Given the description of an element on the screen output the (x, y) to click on. 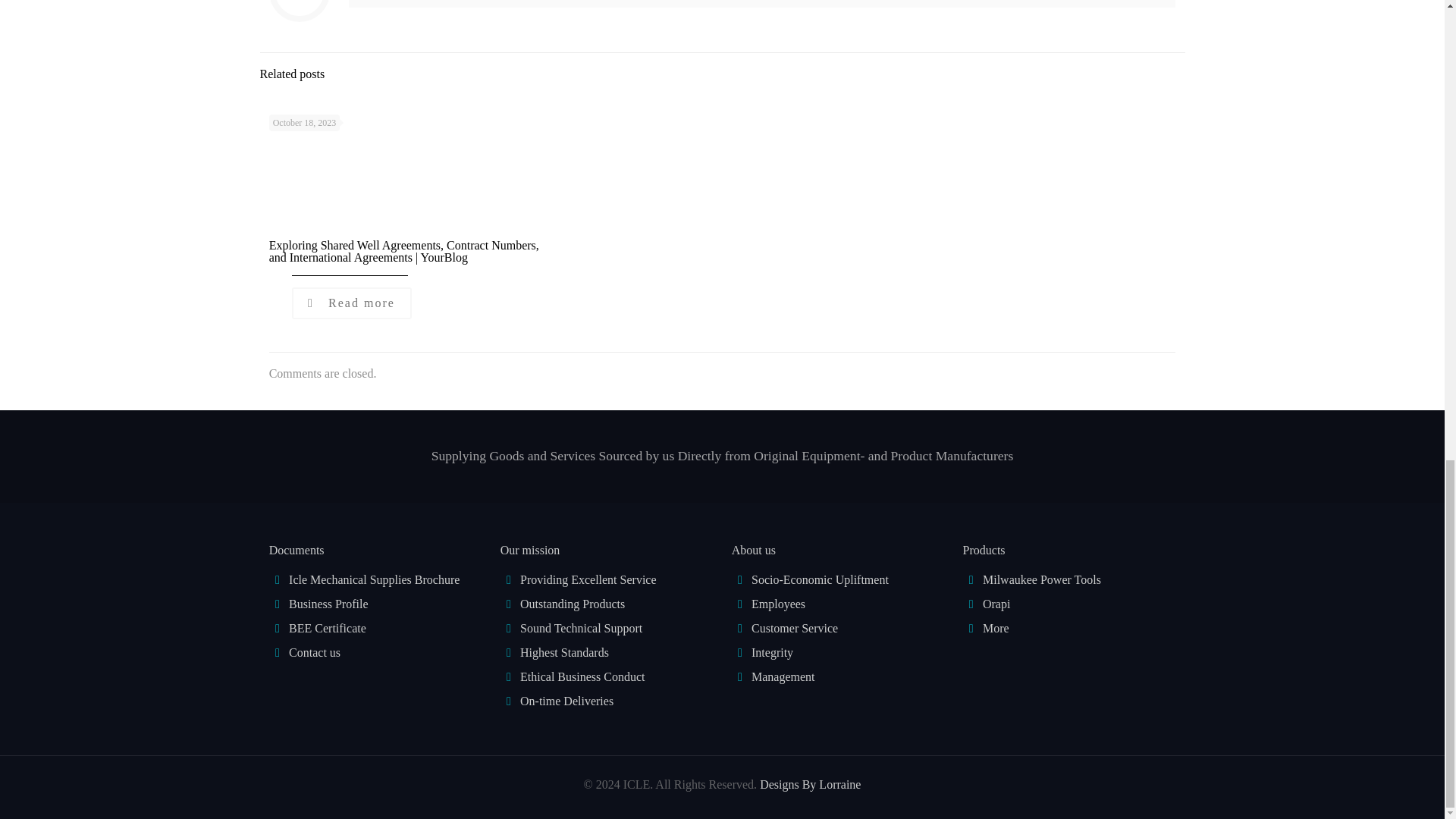
On-time Deliveries (565, 700)
Socio-Economic Upliftment (819, 579)
Icle Mechanical Supplies Brochure (374, 579)
Providing Excellent Service (587, 579)
Ethical Business Conduct (582, 676)
Contact us (314, 652)
Sound Technical Support (580, 627)
Read more (352, 303)
Business Profile (328, 603)
Highest Standards (563, 652)
Outstanding Products (571, 603)
BEE Certificate (327, 627)
